Given the description of an element on the screen output the (x, y) to click on. 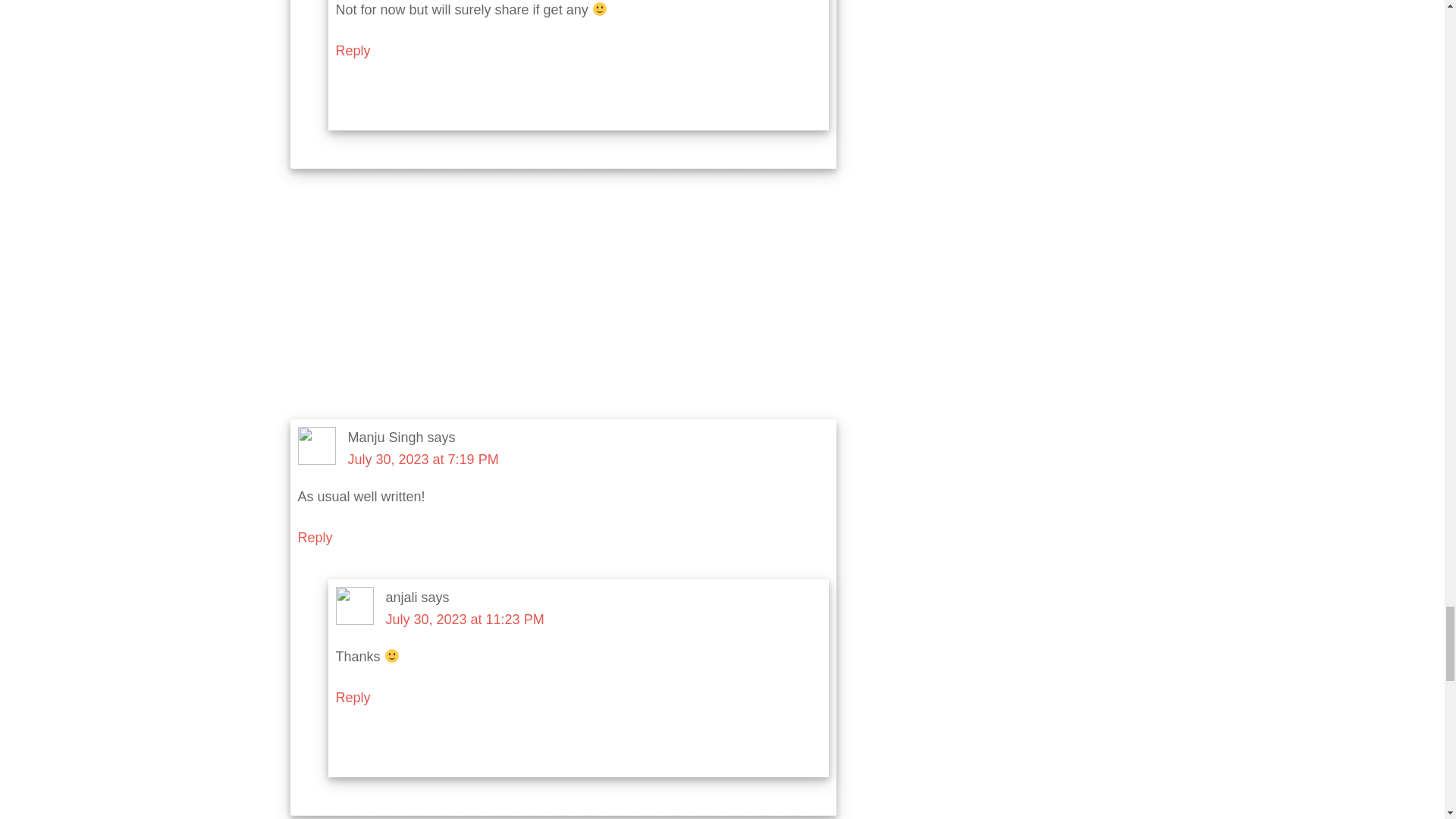
Reply (351, 50)
Reply (351, 697)
July 30, 2023 at 11:23 PM (464, 619)
July 30, 2023 at 7:19 PM (422, 459)
Reply (314, 537)
